Given the description of an element on the screen output the (x, y) to click on. 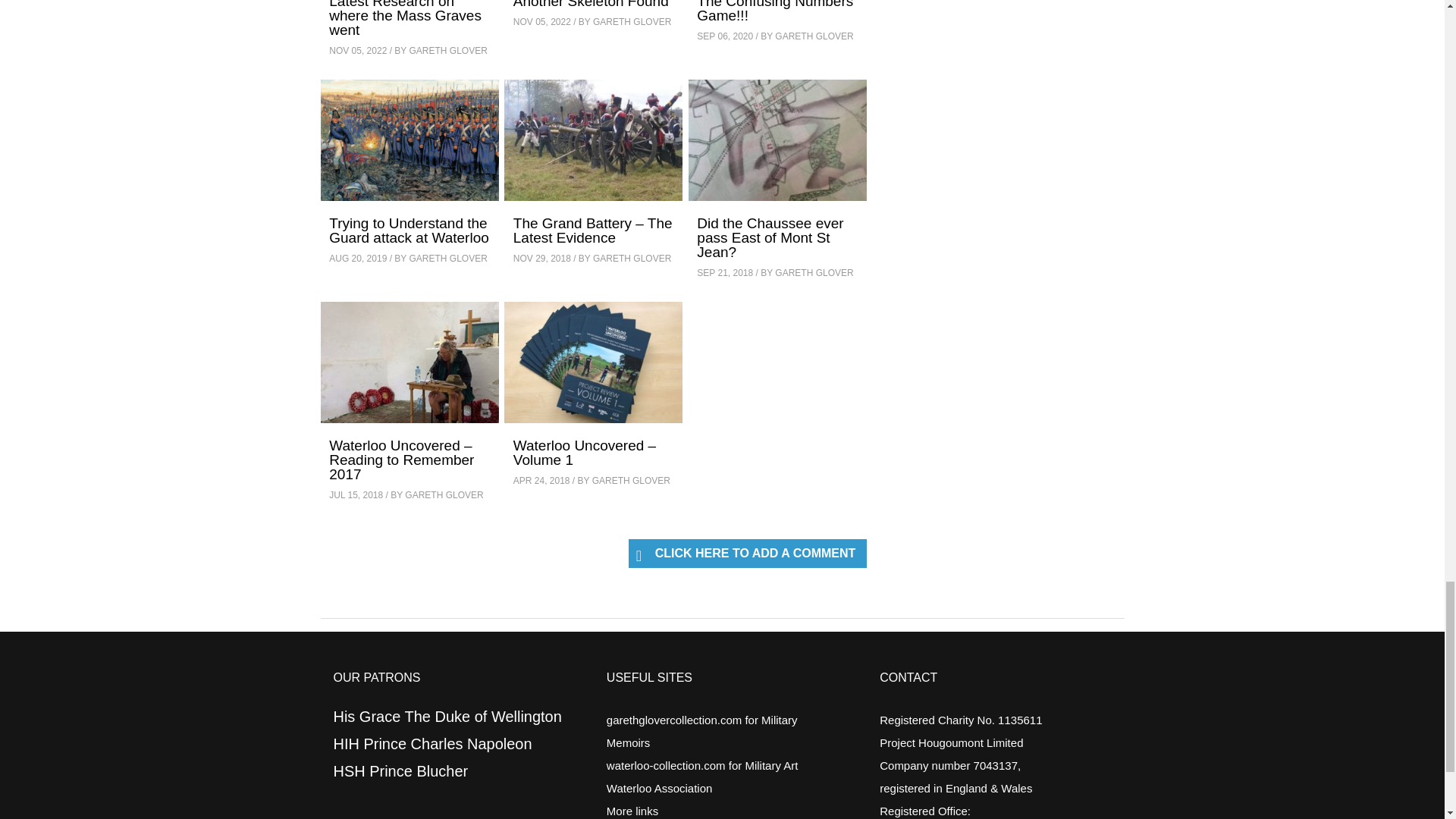
Another Skeleton Found (590, 4)
Latest Research on where the Mass Graves went (405, 18)
GARETH GLOVER (631, 21)
GARETH GLOVER (447, 50)
The Confusing Numbers Game!!! (775, 11)
